Given the description of an element on the screen output the (x, y) to click on. 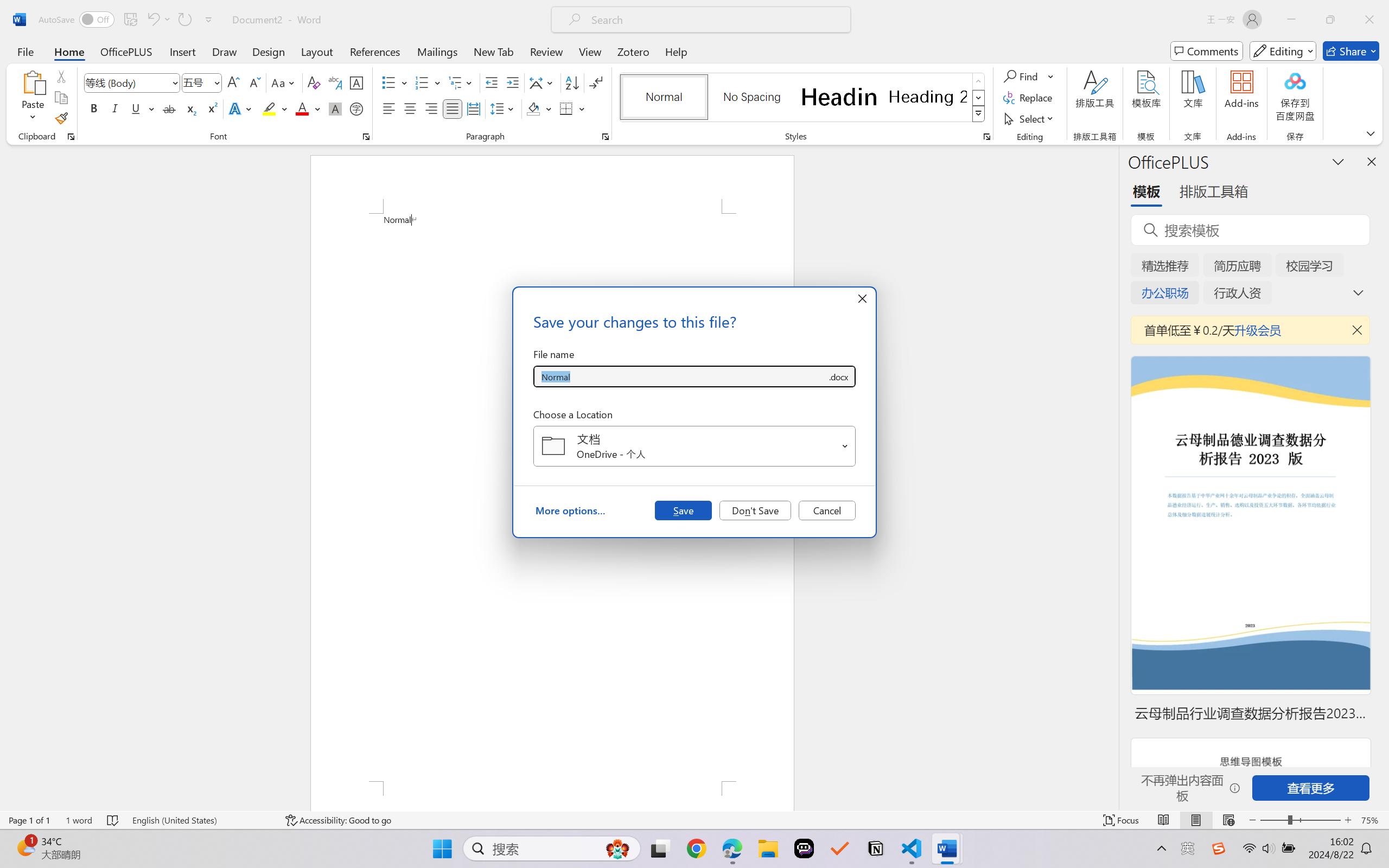
Don't Save (755, 509)
Sort... (571, 82)
Focus  (1121, 819)
Zoom (1300, 819)
Paste (33, 81)
Cancel (826, 509)
Justify (452, 108)
Task Pane Options (1338, 161)
Row up (978, 81)
AutomationID: QuickStylesGallery (802, 97)
Choose a Location (694, 446)
Phonetic Guide... (334, 82)
